Given the description of an element on the screen output the (x, y) to click on. 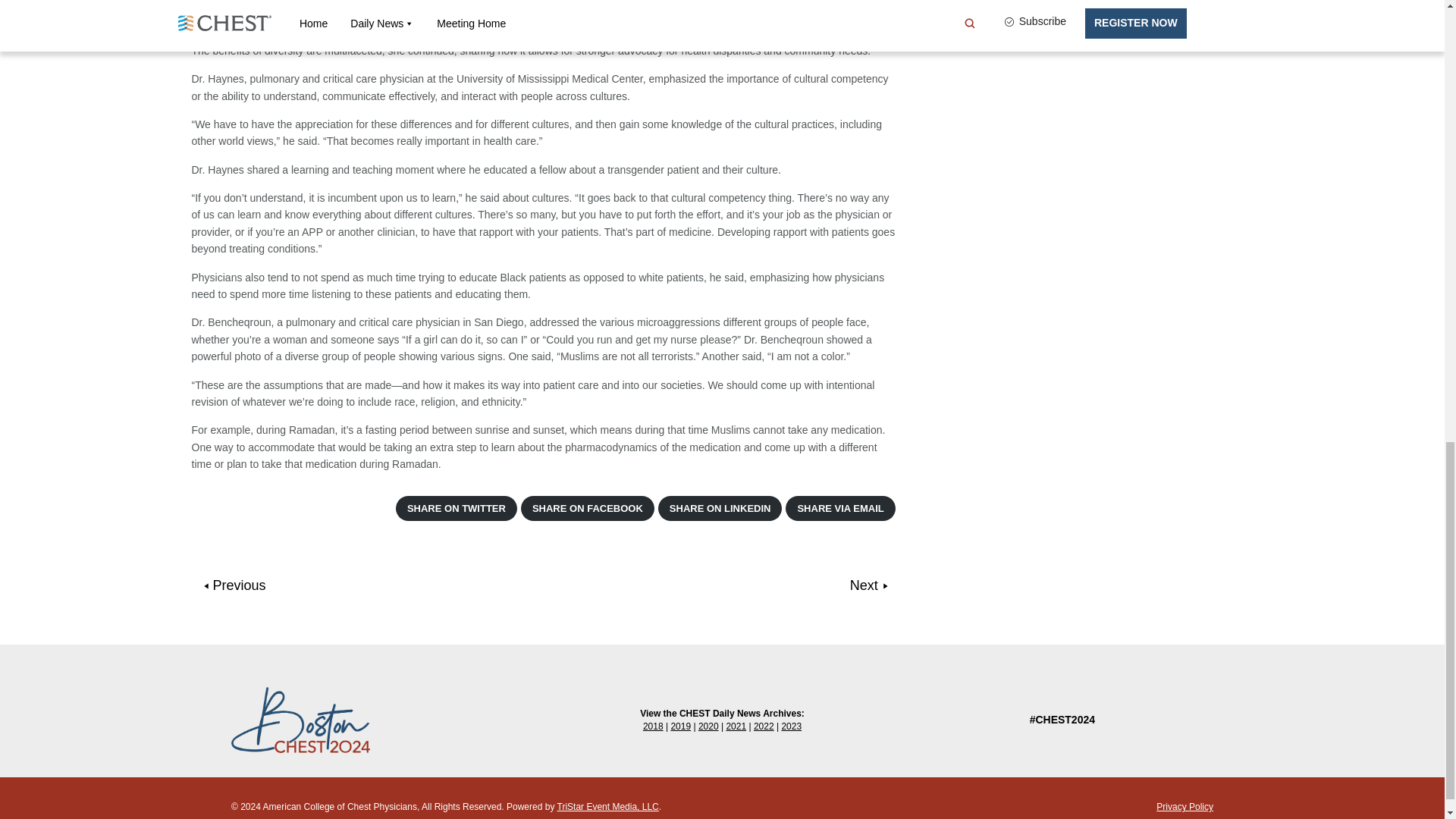
Share on Facebook (587, 508)
2022 (764, 726)
Share on Twitter (456, 508)
Next (869, 585)
SHARE ON TWITTER (456, 508)
Previous (234, 585)
SHARE VIA EMAIL (840, 508)
2023 (791, 726)
SHARE ON LINKEDIN (720, 508)
SHARE ON FACEBOOK (587, 508)
TriStar Event Media, LLC (608, 806)
2021 (735, 726)
2020 (708, 726)
Share via Email (840, 508)
Privacy Policy (1184, 806)
